Given the description of an element on the screen output the (x, y) to click on. 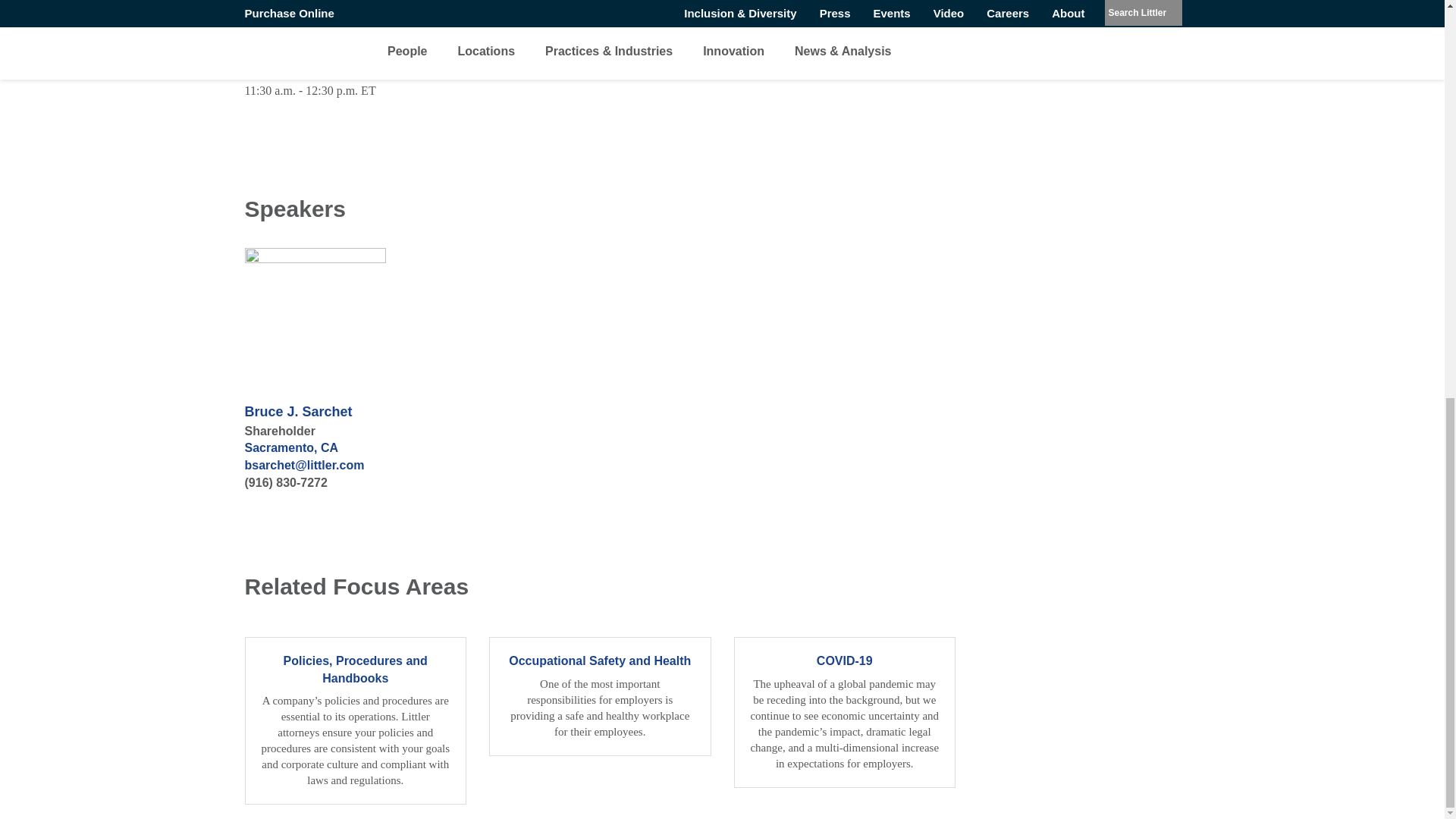
Policies, Procedures and Handbooks (354, 720)
Occupational Safety and Health (600, 696)
COVID-19 (844, 712)
